Given the description of an element on the screen output the (x, y) to click on. 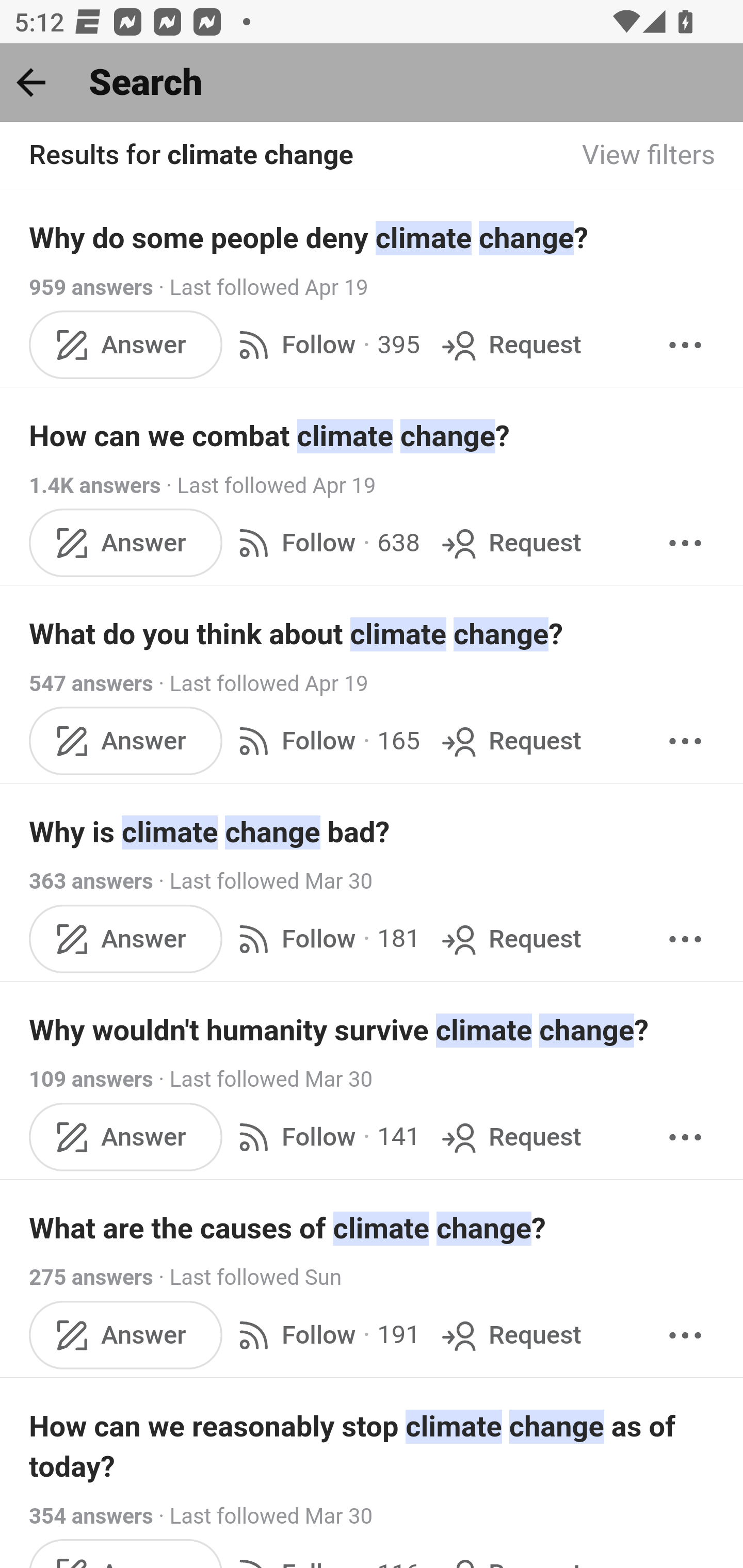
Back Search (371, 82)
Back (30, 82)
View filters (648, 155)
Why do some people deny climate change? (372, 237)
959 answers 959  answers (90, 287)
Answer (125, 343)
Follow · 395 (324, 343)
Request (509, 343)
More (684, 343)
How can we combat climate change? (372, 436)
1.4K answers 1.4K  answers (95, 484)
Answer (125, 543)
Follow · 638 (324, 543)
Request (509, 543)
More (684, 543)
What do you think about climate change? (372, 634)
547 answers 547  answers (90, 684)
Answer (125, 741)
Follow · 165 (324, 741)
Request (509, 741)
More (684, 741)
Why is climate change bad? (372, 832)
363 answers 363  answers (90, 881)
Answer (125, 939)
Follow · 181 (324, 939)
Request (509, 939)
More (684, 939)
Why wouldn't humanity survive climate change? (372, 1029)
109 answers 109  answers (90, 1079)
Answer (125, 1137)
Follow · 141 (324, 1137)
Request (509, 1137)
More (684, 1137)
What are the causes of climate change? (372, 1227)
275 answers 275  answers (90, 1277)
Answer (125, 1334)
Follow · 191 (324, 1334)
Request (509, 1334)
More (684, 1334)
354 answers 354  answers (90, 1516)
